Given the description of an element on the screen output the (x, y) to click on. 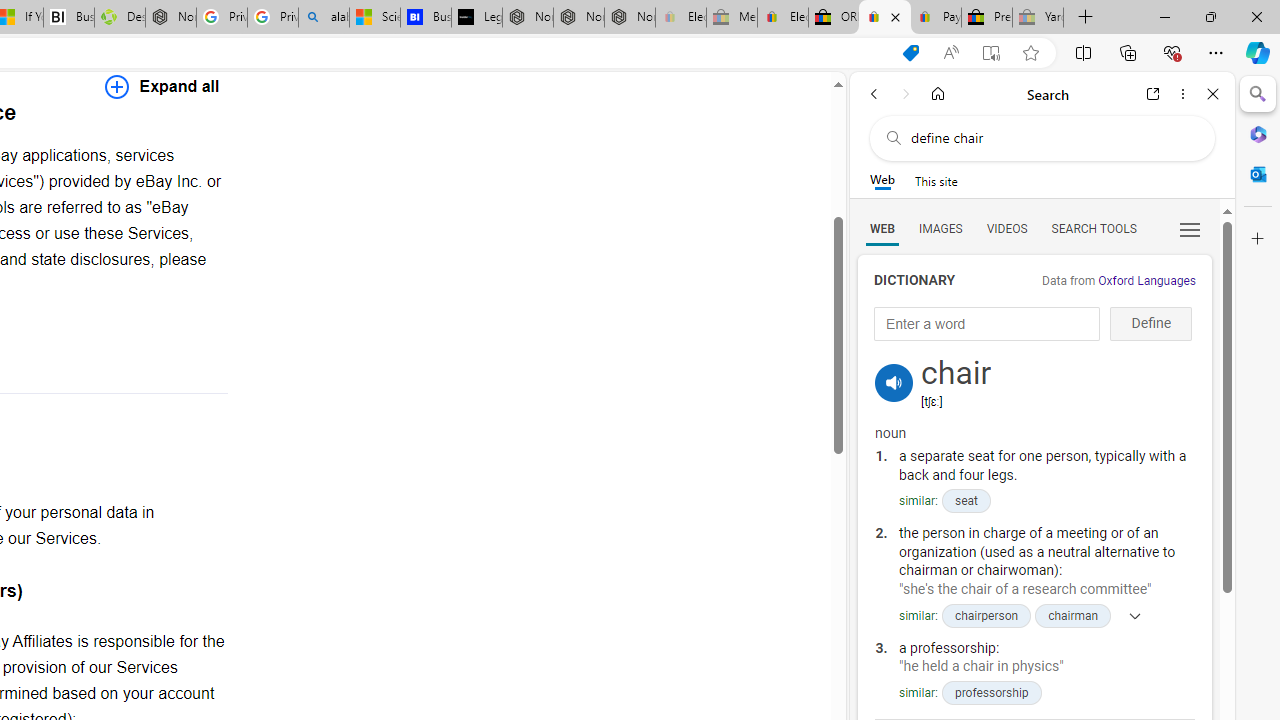
Define (1150, 323)
User Privacy Notice | eBay (885, 17)
professorship (990, 691)
